Given the description of an element on the screen output the (x, y) to click on. 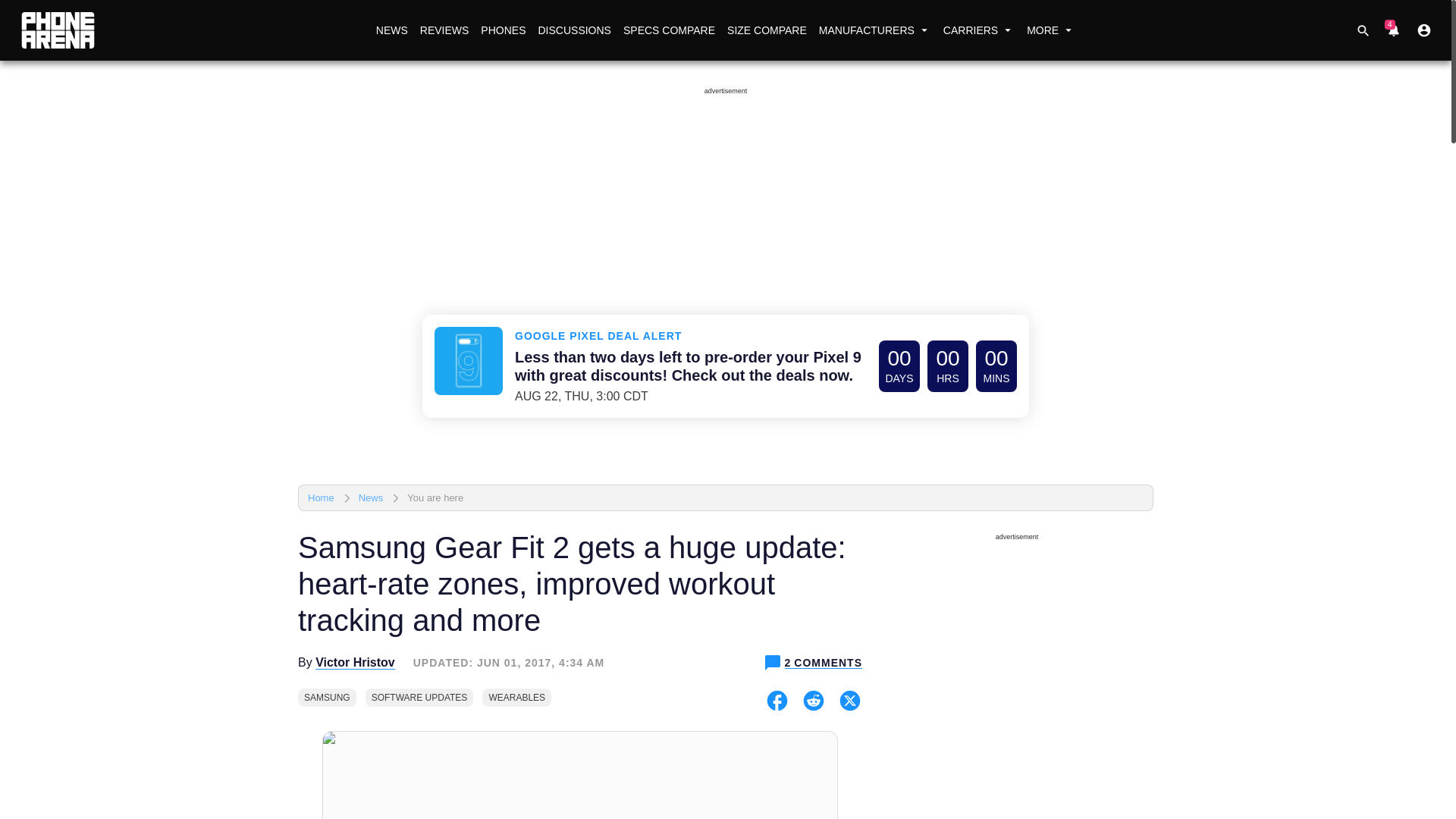
PHONES (502, 30)
CARRIERS (978, 30)
SPECS COMPARE (668, 30)
DISCUSSIONS (573, 30)
MORE (1050, 30)
MANUFACTURERS (874, 30)
NEWS (391, 30)
SIZE COMPARE (766, 30)
REVIEWS (444, 30)
